Given the description of an element on the screen output the (x, y) to click on. 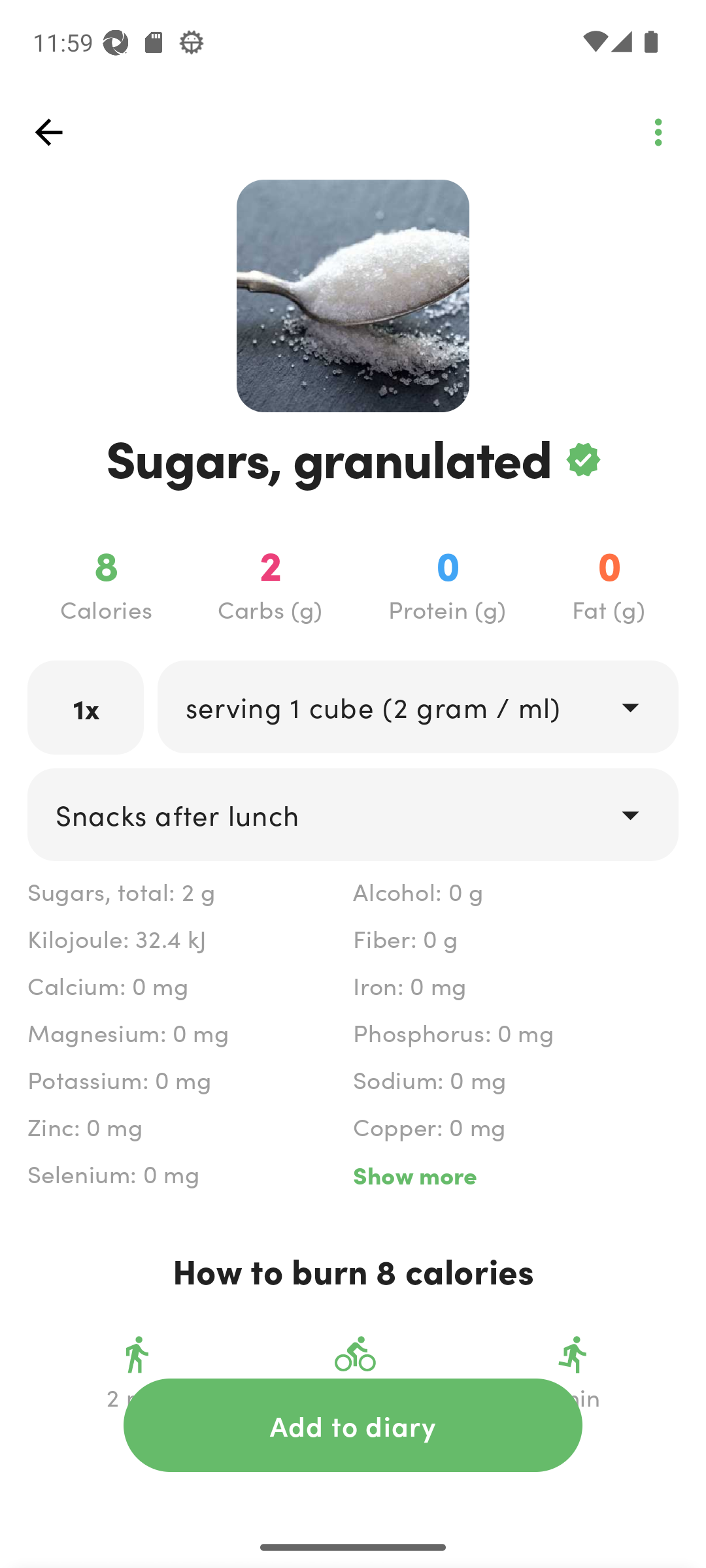
top_left_action (48, 132)
top_left_action (658, 132)
1x labeled_edit_text (85, 707)
drop_down serving 1 cube (2 gram / ml) (417, 706)
drop_down Snacks after lunch (352, 814)
Show more (515, 1174)
action_button Add to diary (352, 1425)
